Given the description of an element on the screen output the (x, y) to click on. 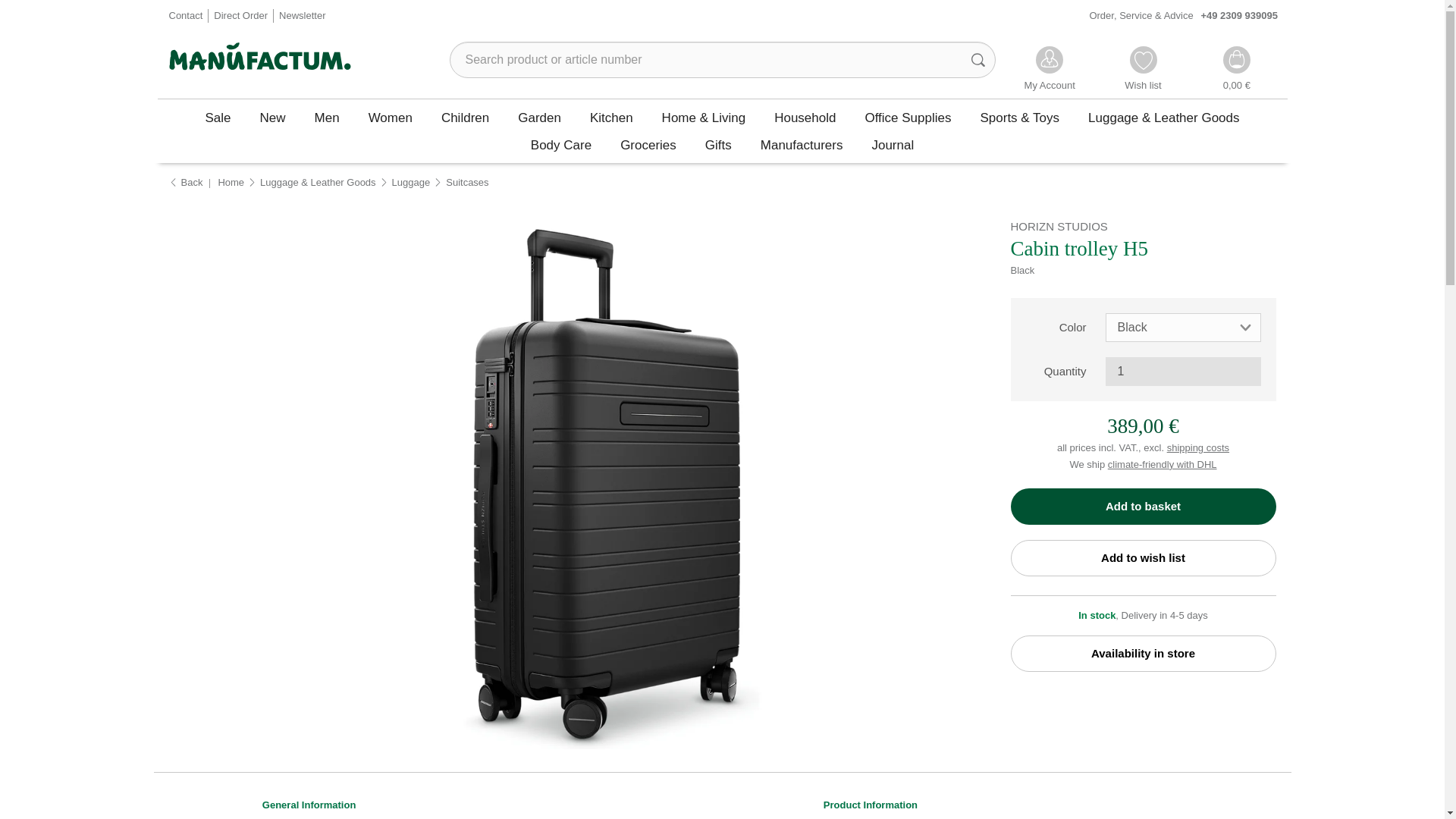
Women (389, 117)
Contact (185, 16)
New (272, 117)
Newsletter (301, 16)
Kitchen (611, 117)
Wish list (1142, 69)
Children (464, 117)
Garden (539, 117)
Men (326, 117)
Sale (218, 117)
1 (1182, 371)
My Account (1049, 69)
Household (805, 117)
Direct Order (240, 16)
